Given the description of an element on the screen output the (x, y) to click on. 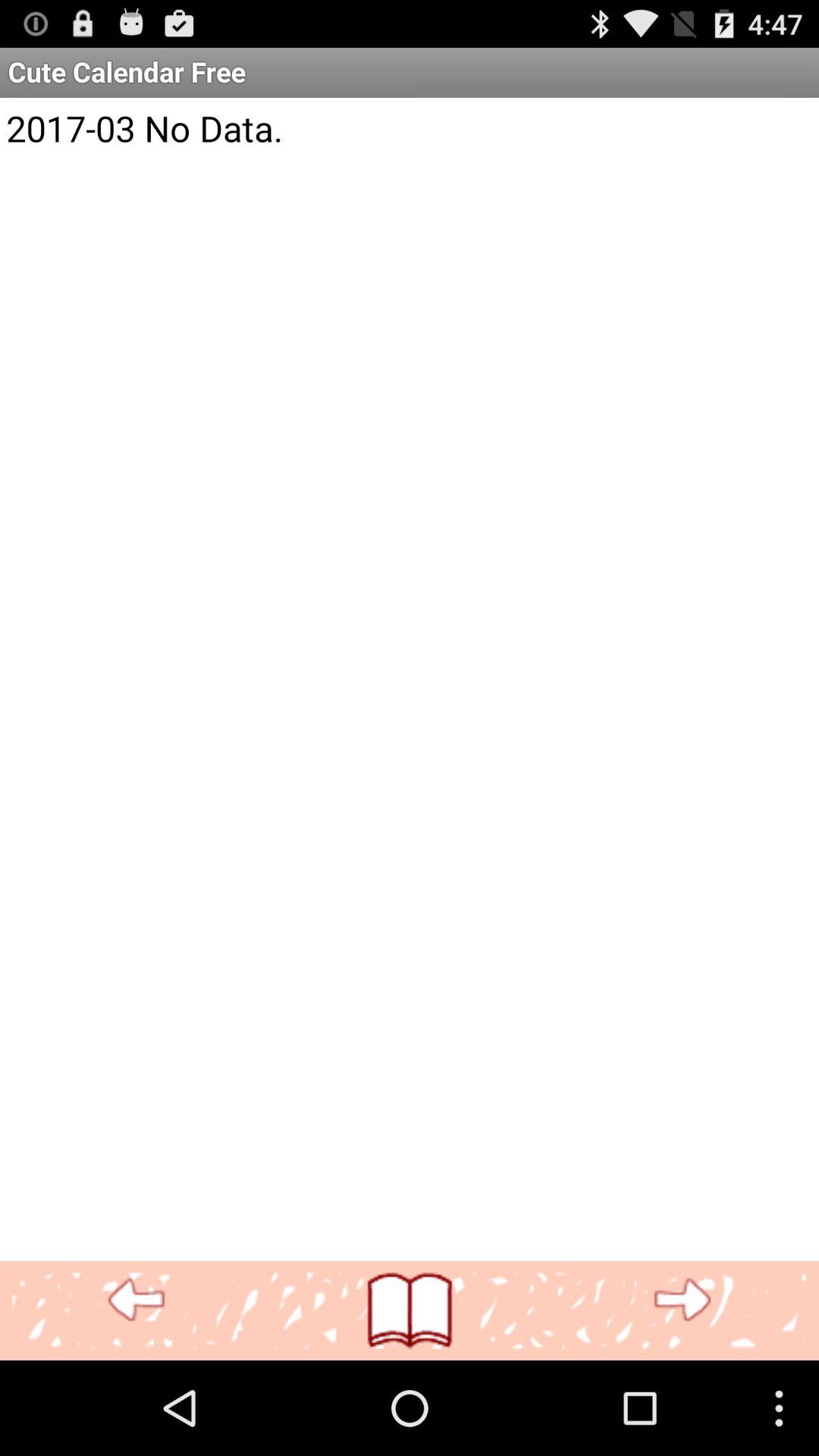
turn off icon at the bottom left corner (136, 1300)
